Given the description of an element on the screen output the (x, y) to click on. 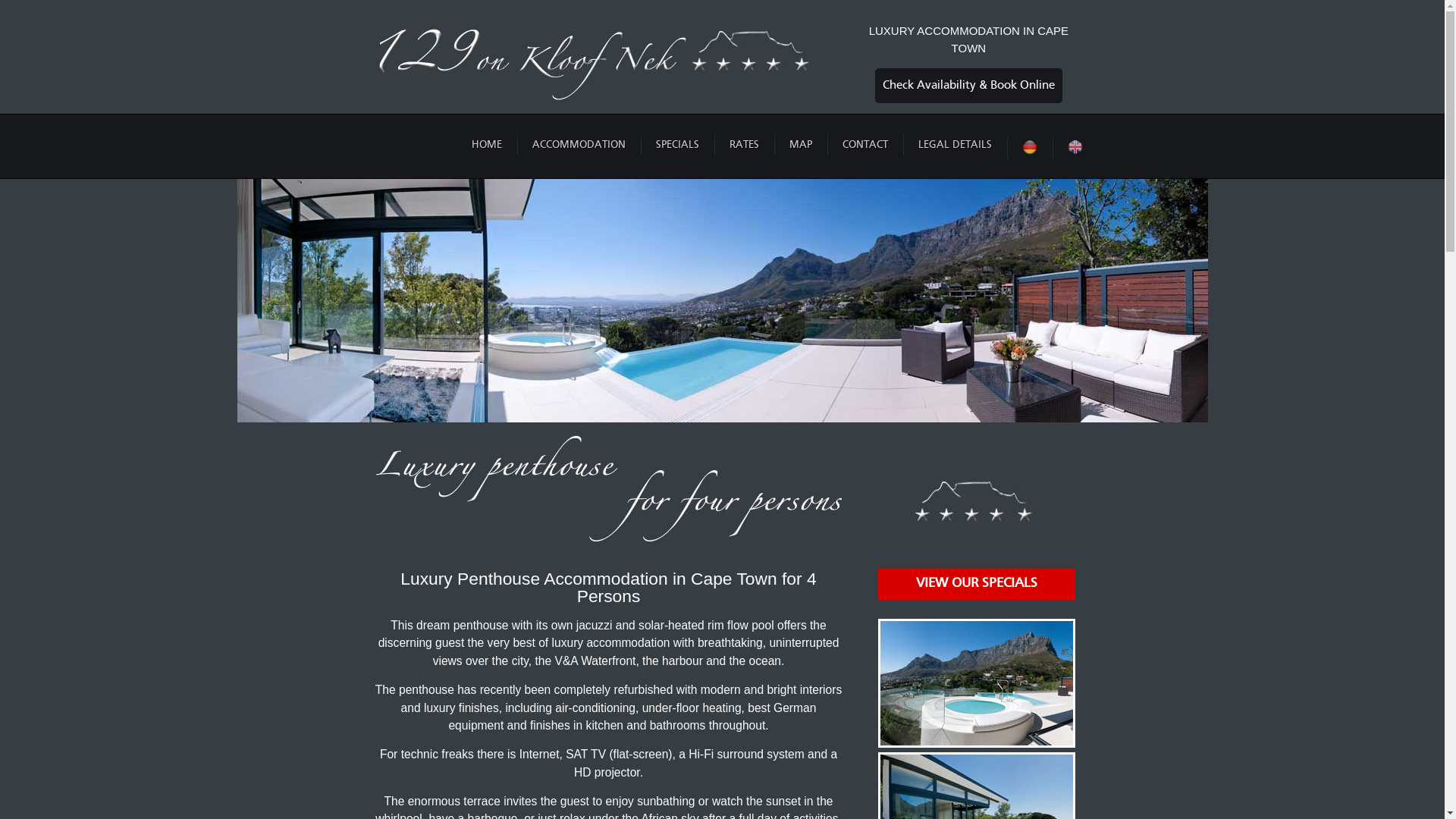
RATES Element type: text (743, 144)
ACCOMMODATION Element type: text (577, 144)
MAP Element type: text (800, 144)
LEGAL DETAILS Element type: text (954, 144)
Check Availability & Book Online Element type: text (968, 85)
HOME Element type: text (486, 144)
SPECIALS Element type: text (677, 144)
CONTACT Element type: text (864, 144)
VIEW OUR SPECIALS Element type: text (976, 582)
